Given the description of an element on the screen output the (x, y) to click on. 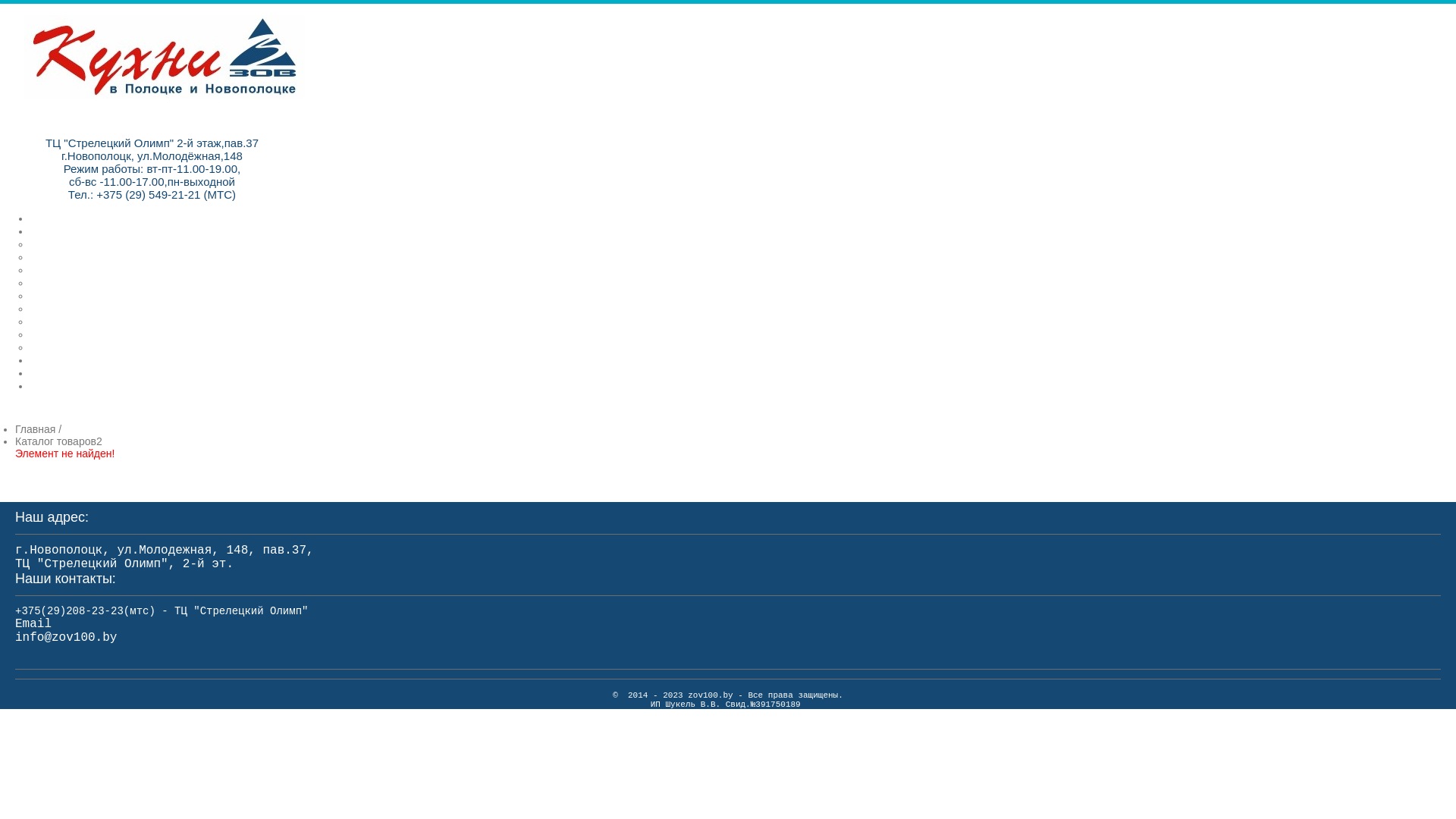
info@zov100.by Element type: text (65, 637)
